Given the description of an element on the screen output the (x, y) to click on. 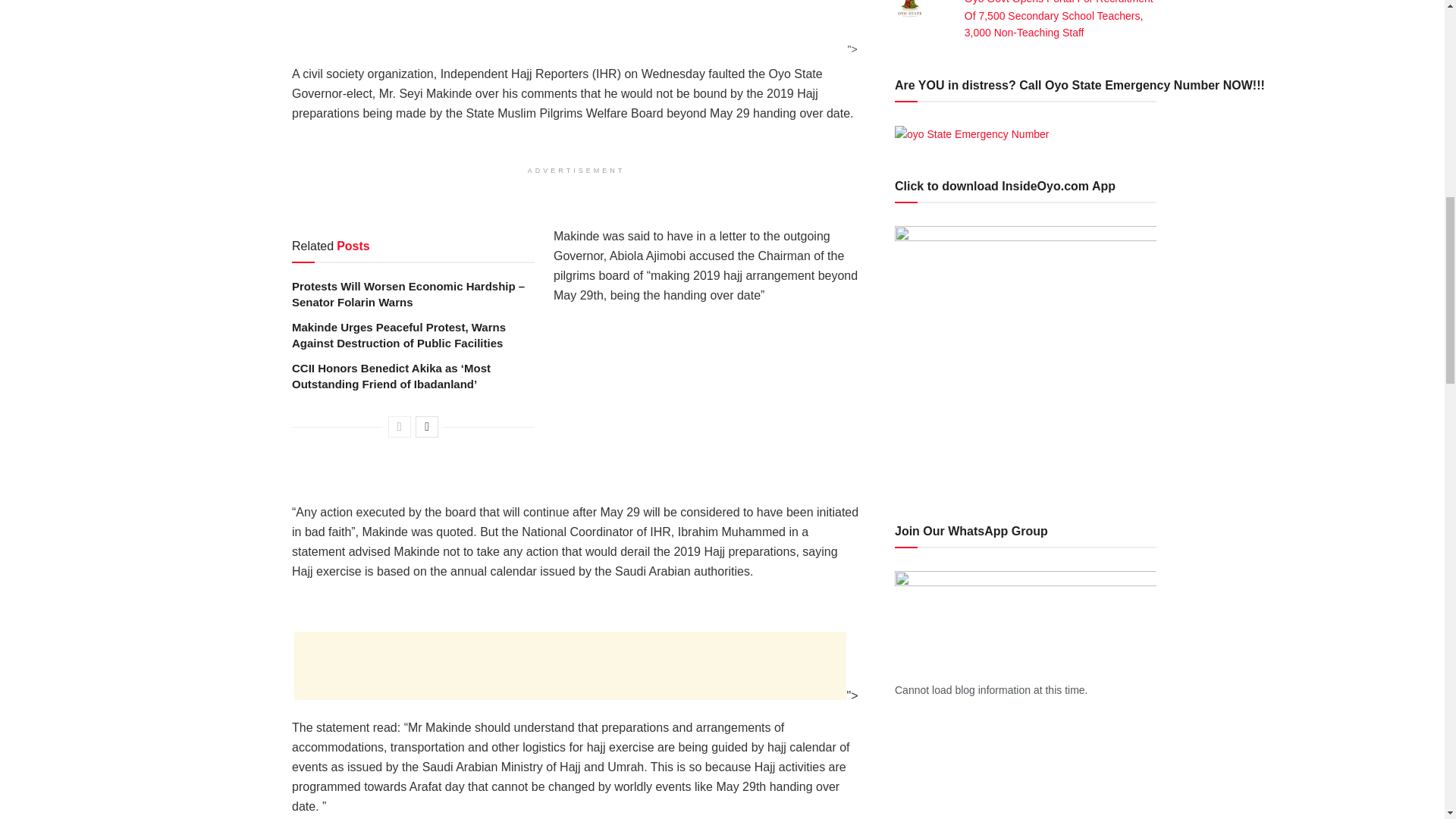
Are YOU in distress? Call Oyo State Emergency Number NOW!!! (972, 134)
Next (426, 426)
Previous (399, 426)
